Given the description of an element on the screen output the (x, y) to click on. 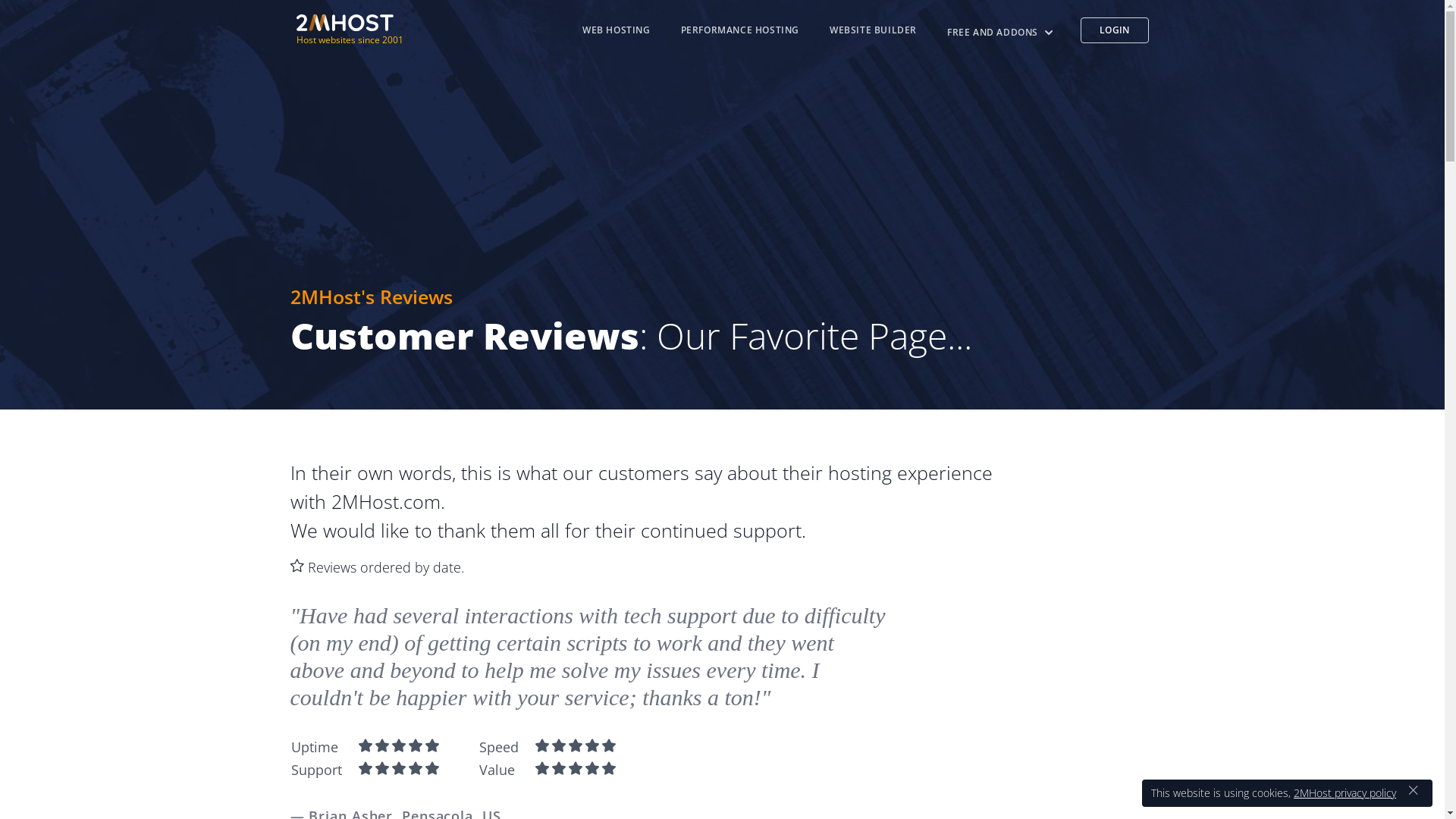
2MHost privacy policy Element type: text (1344, 792)
LOGIN Element type: text (1114, 30)
WEBSITE BUILDER Element type: text (872, 30)
FREE AND ADDONS Element type: text (1001, 32)
PERFORMANCE HOSTING Element type: text (739, 30)
WEB HOSTING Element type: text (616, 30)
